Given the description of an element on the screen output the (x, y) to click on. 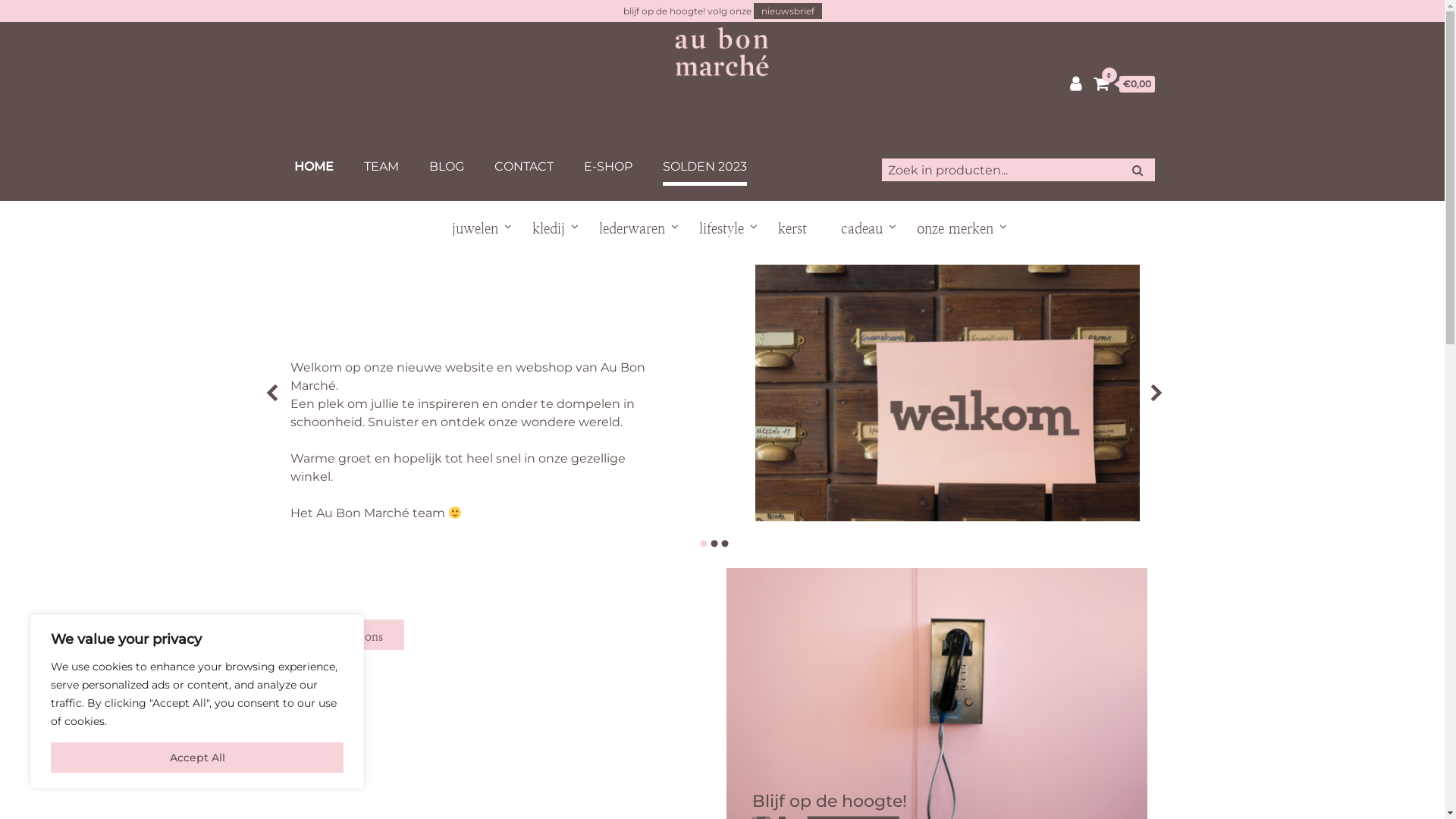
cadeau Element type: text (860, 228)
HOME Element type: text (313, 166)
BLOG Element type: text (446, 166)
kledij Element type: text (548, 228)
CONTACT Element type: text (523, 166)
TEAM Element type: text (381, 166)
Accept All Element type: text (196, 757)
SOLDEN 2023 Element type: text (704, 168)
over ons Element type: text (360, 634)
lifestyle Element type: text (721, 228)
onze merken Element type: text (954, 228)
nieuwsbrief Element type: text (787, 10)
E-SHOP Element type: text (607, 166)
kerst Element type: text (792, 228)
lederwaren Element type: text (632, 228)
juwelen Element type: text (474, 228)
Mijn account Element type: hover (1075, 83)
